Given the description of an element on the screen output the (x, y) to click on. 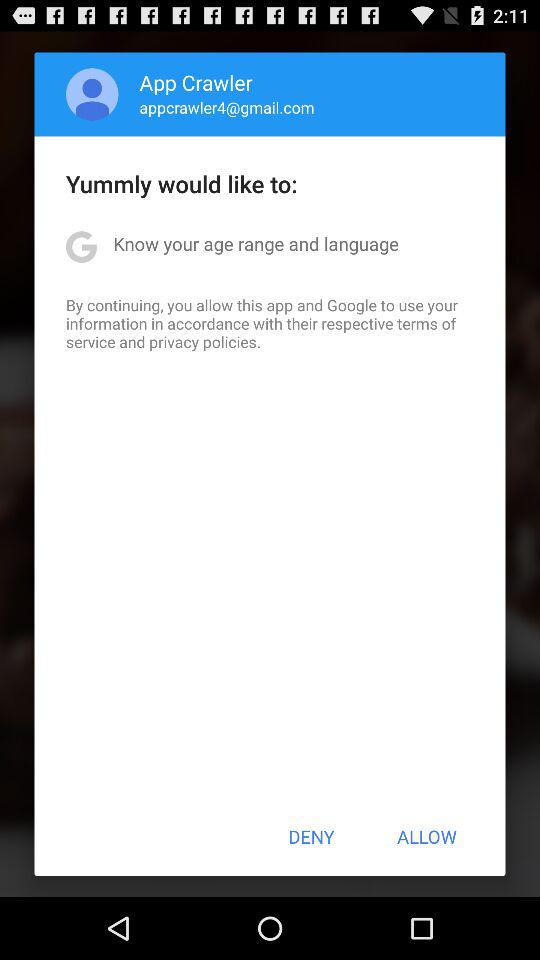
tap the item above the yummly would like item (226, 107)
